Given the description of an element on the screen output the (x, y) to click on. 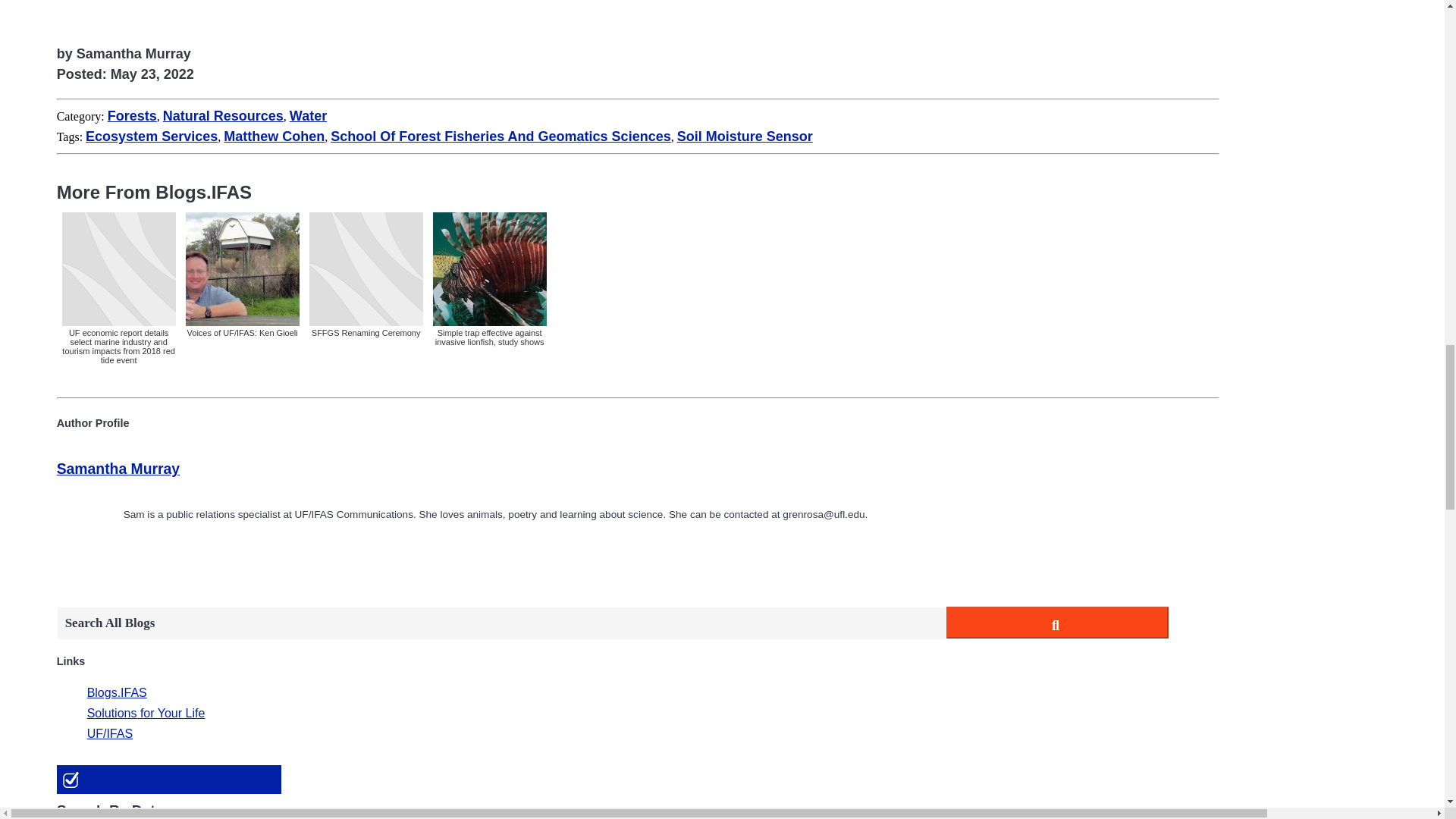
Search All Blogs (501, 622)
